Given the description of an element on the screen output the (x, y) to click on. 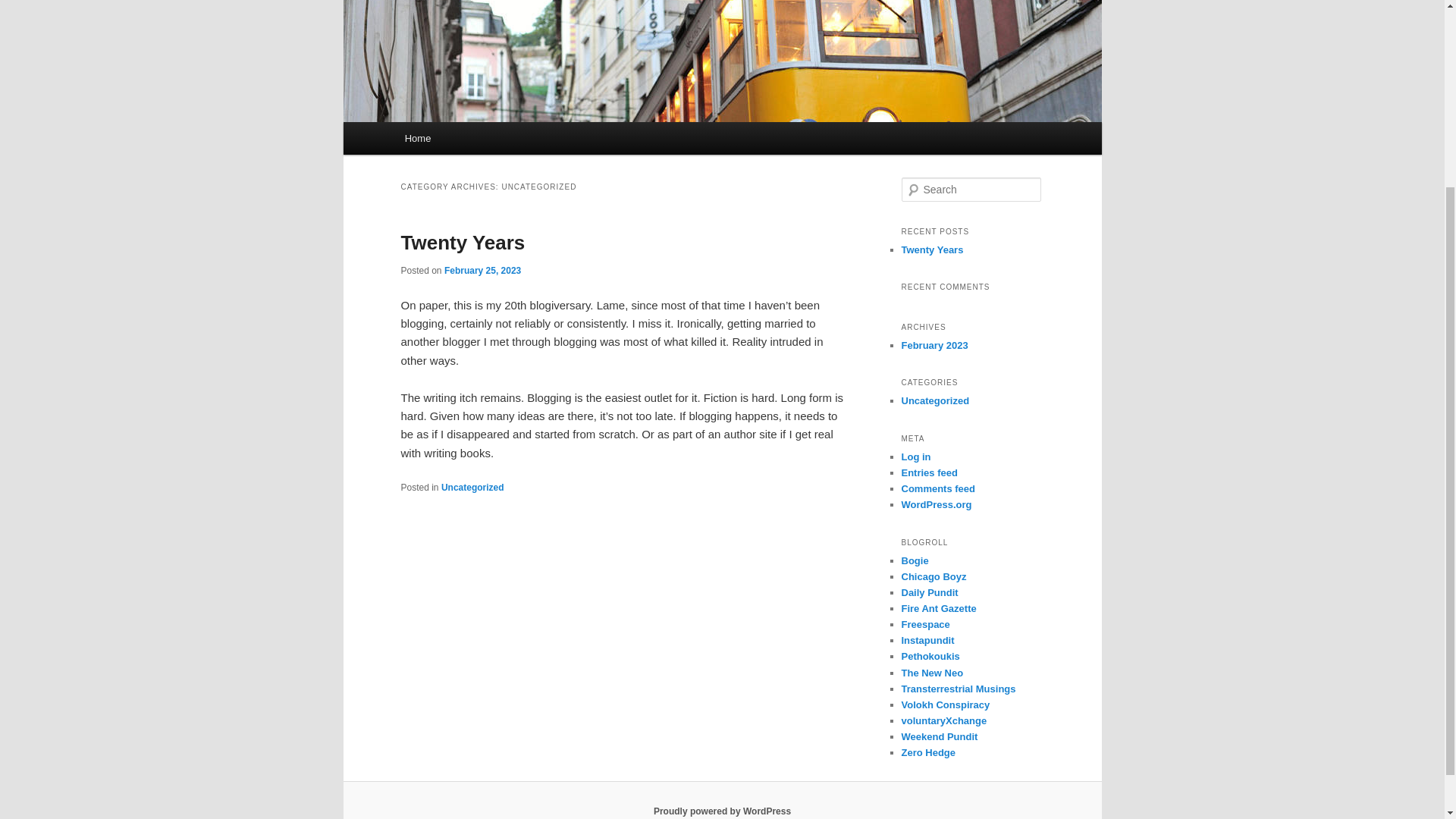
Entries feed (928, 472)
Uncategorized (935, 400)
Freespace (925, 624)
Twenty Years (931, 249)
Volokh Conspiracy (945, 704)
Weekend Pundit (938, 736)
Comments feed (938, 488)
Daily Pundit (929, 592)
3:51 pm (482, 270)
Home (417, 138)
